Given the description of an element on the screen output the (x, y) to click on. 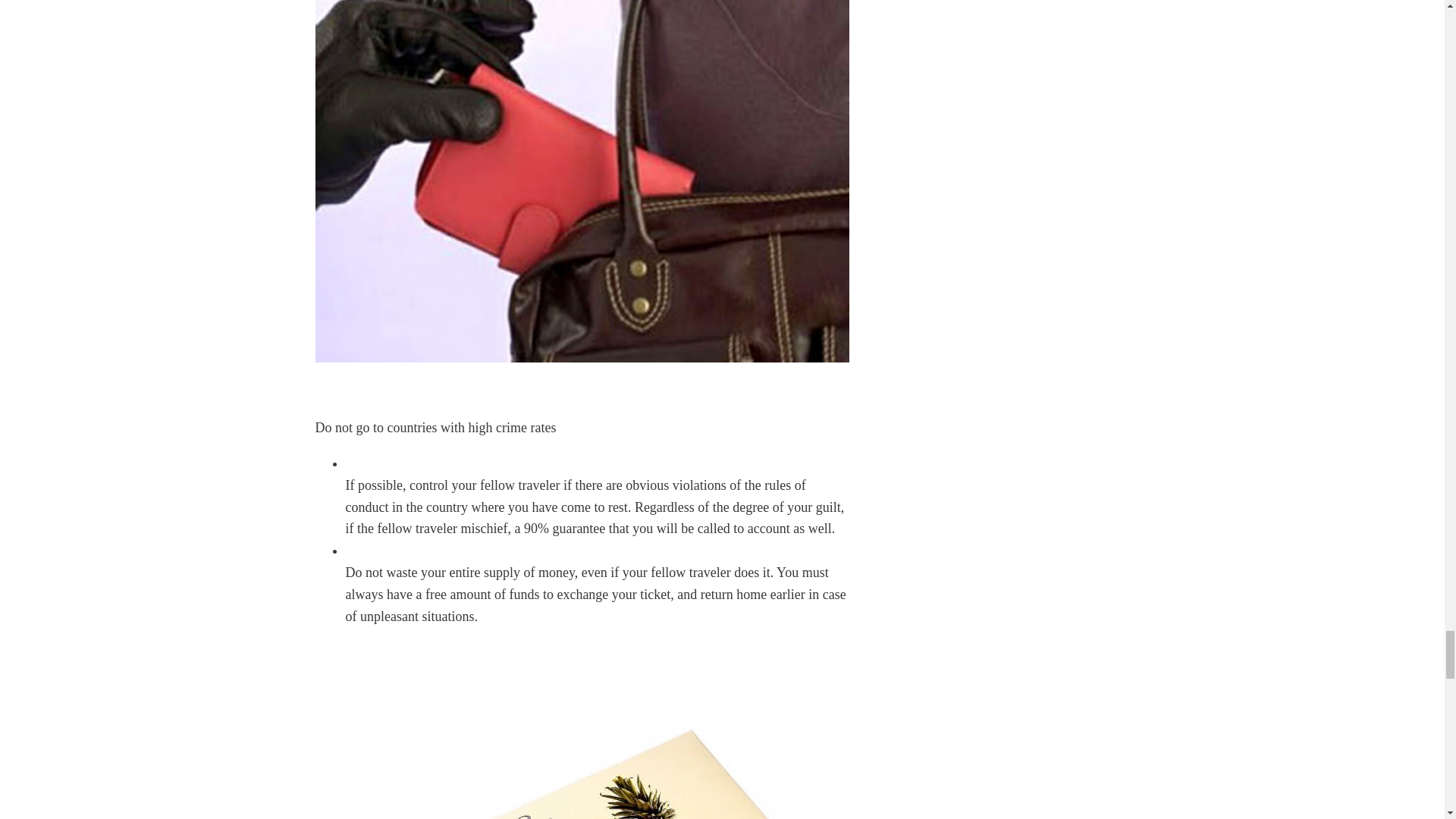
Don't waste all your money (582, 746)
